Given the description of an element on the screen output the (x, y) to click on. 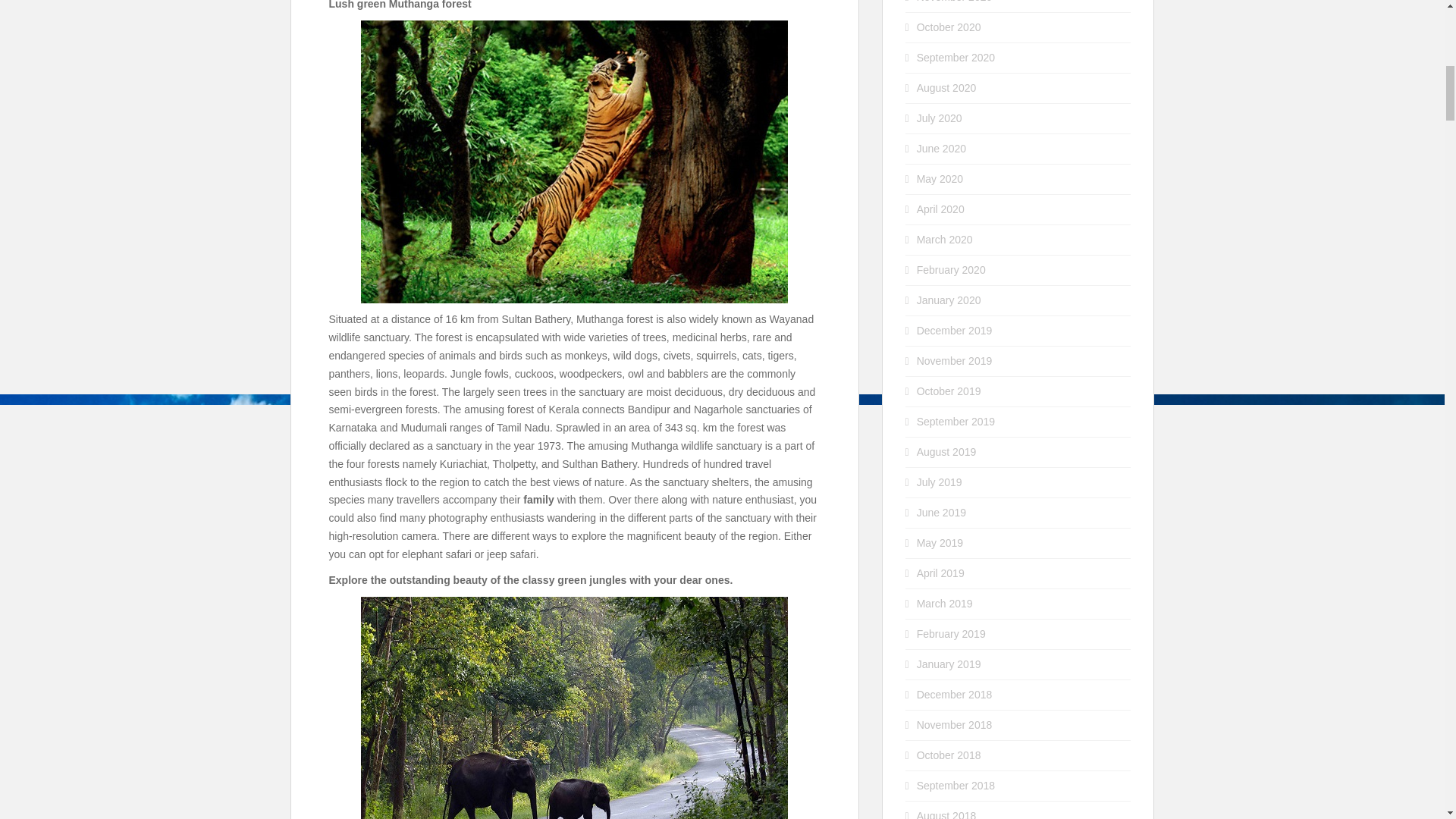
Kerala Tour Packages (574, 161)
Kerala Family Tour Packages (574, 708)
